Given the description of an element on the screen output the (x, y) to click on. 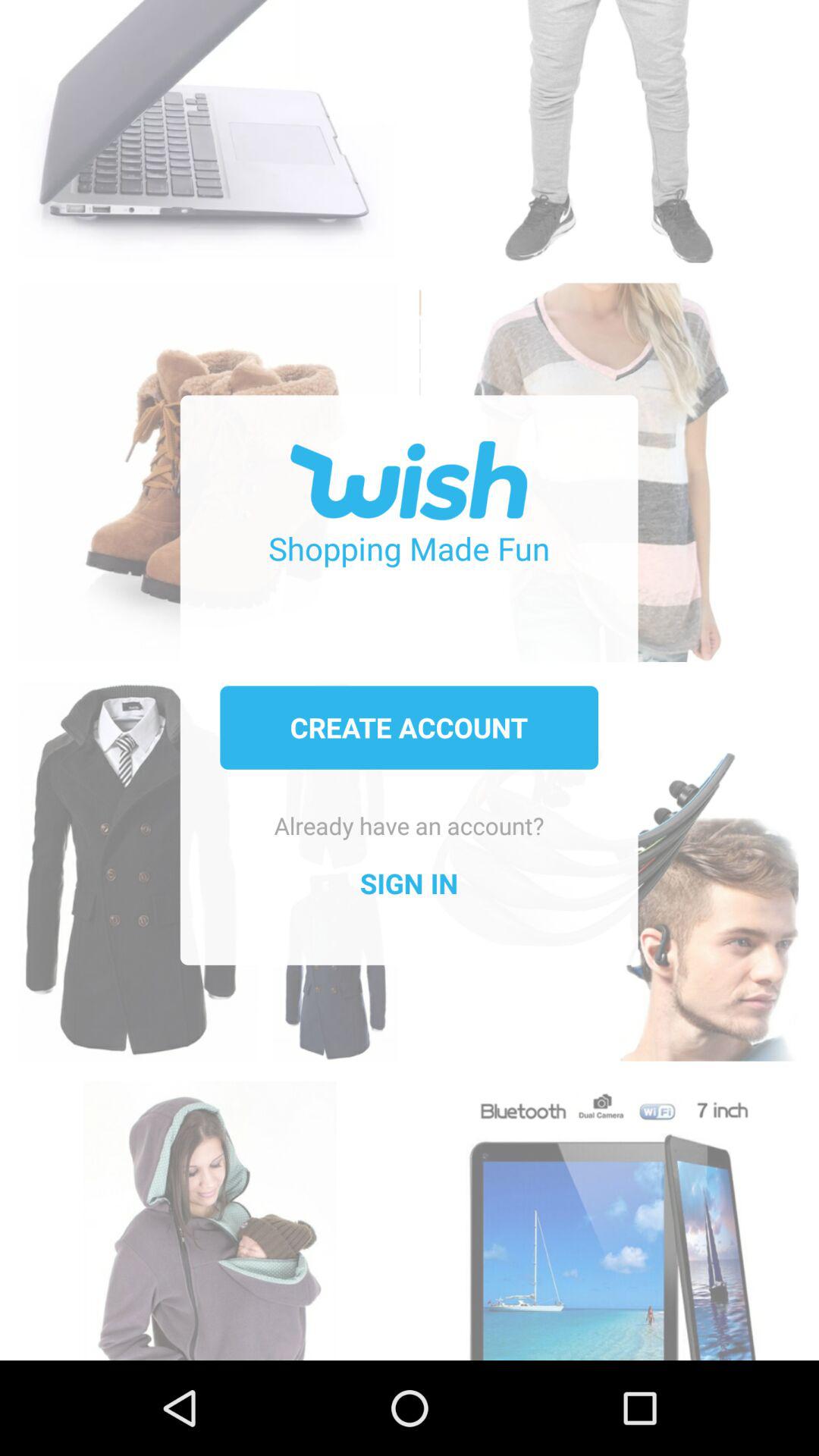
select option (608, 123)
